Given the description of an element on the screen output the (x, y) to click on. 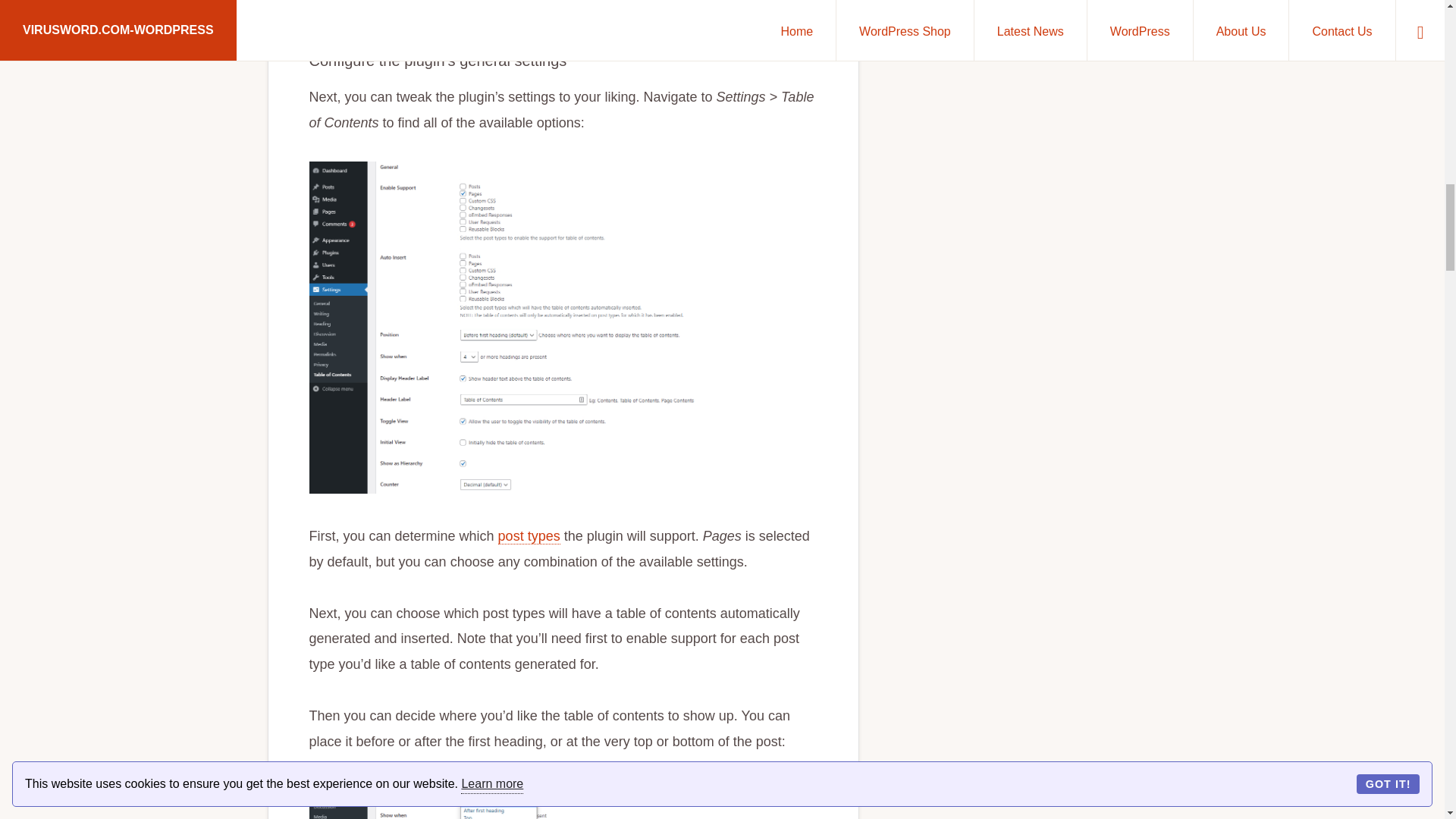
post types (528, 536)
installing a WordPress plugin (635, 12)
